Given the description of an element on the screen output the (x, y) to click on. 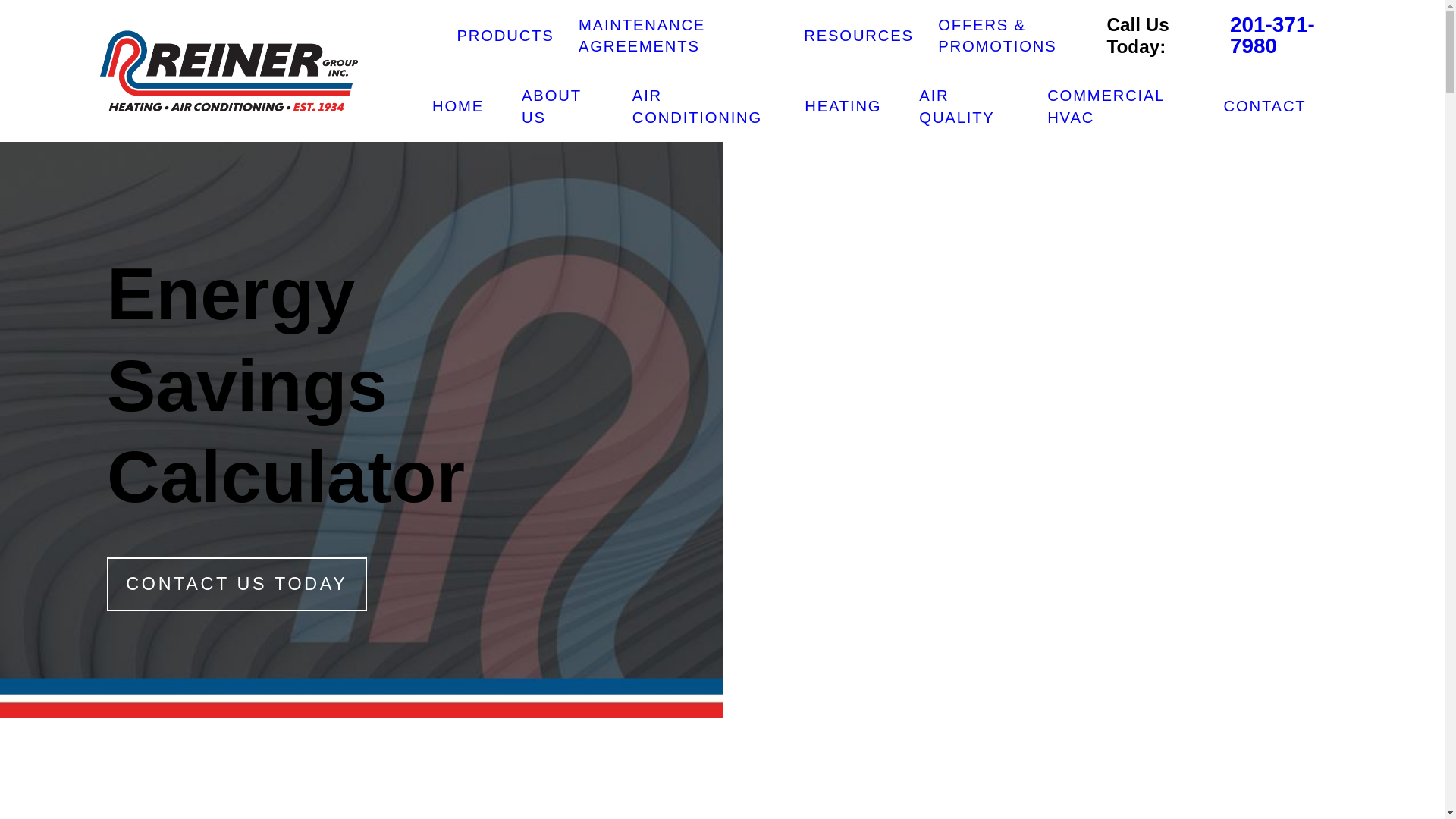
HEATING (842, 106)
ABOUT US (557, 106)
Home (229, 70)
AIR QUALITY (963, 106)
AIR CONDITIONING (699, 106)
PRODUCTS (505, 35)
HOME (457, 106)
RESOURCES (857, 35)
COMMERCIAL HVAC (1115, 106)
MAINTENANCE AGREEMENTS (641, 35)
